Given the description of an element on the screen output the (x, y) to click on. 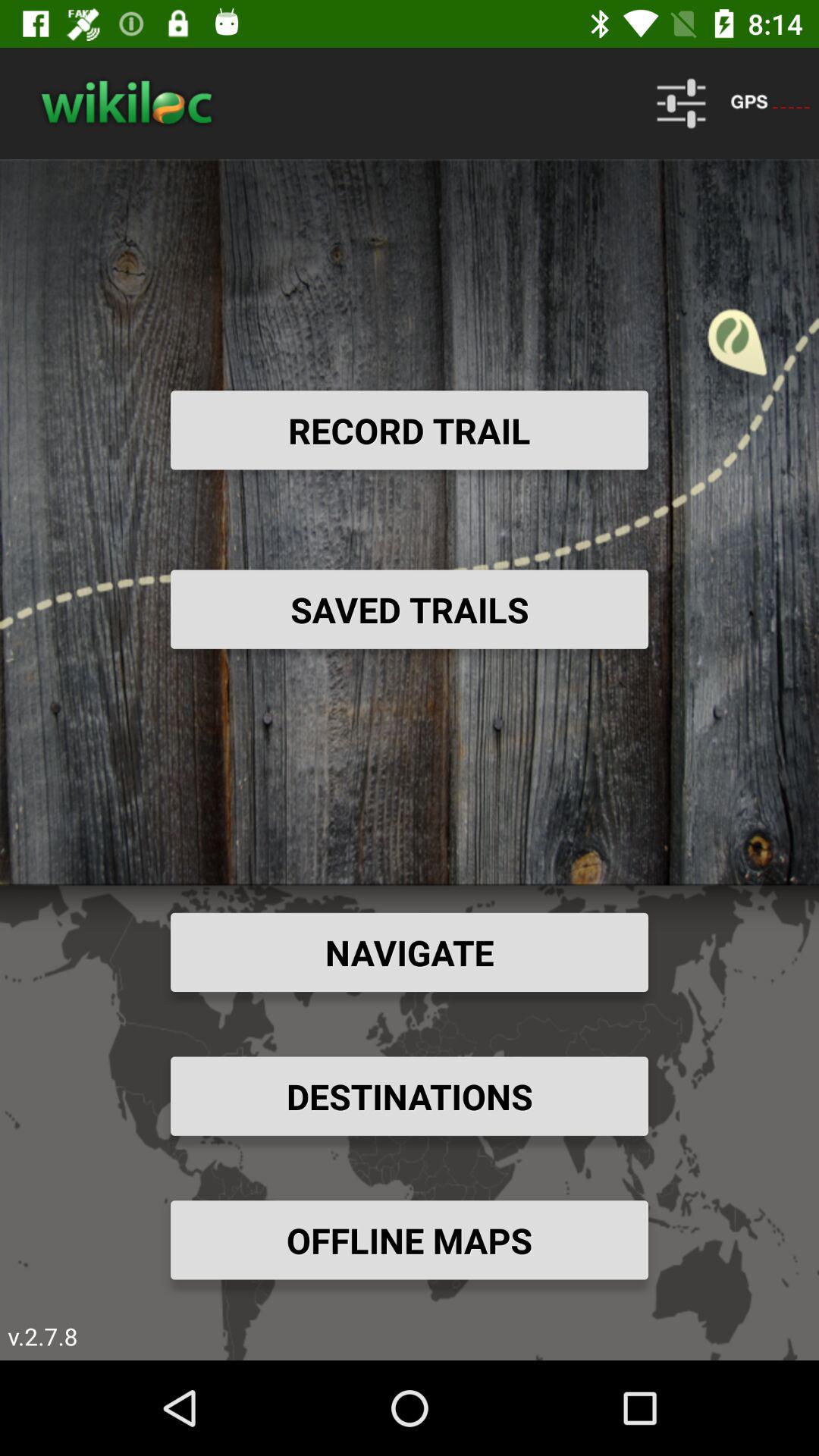
flip until the destinations (409, 1095)
